Given the description of an element on the screen output the (x, y) to click on. 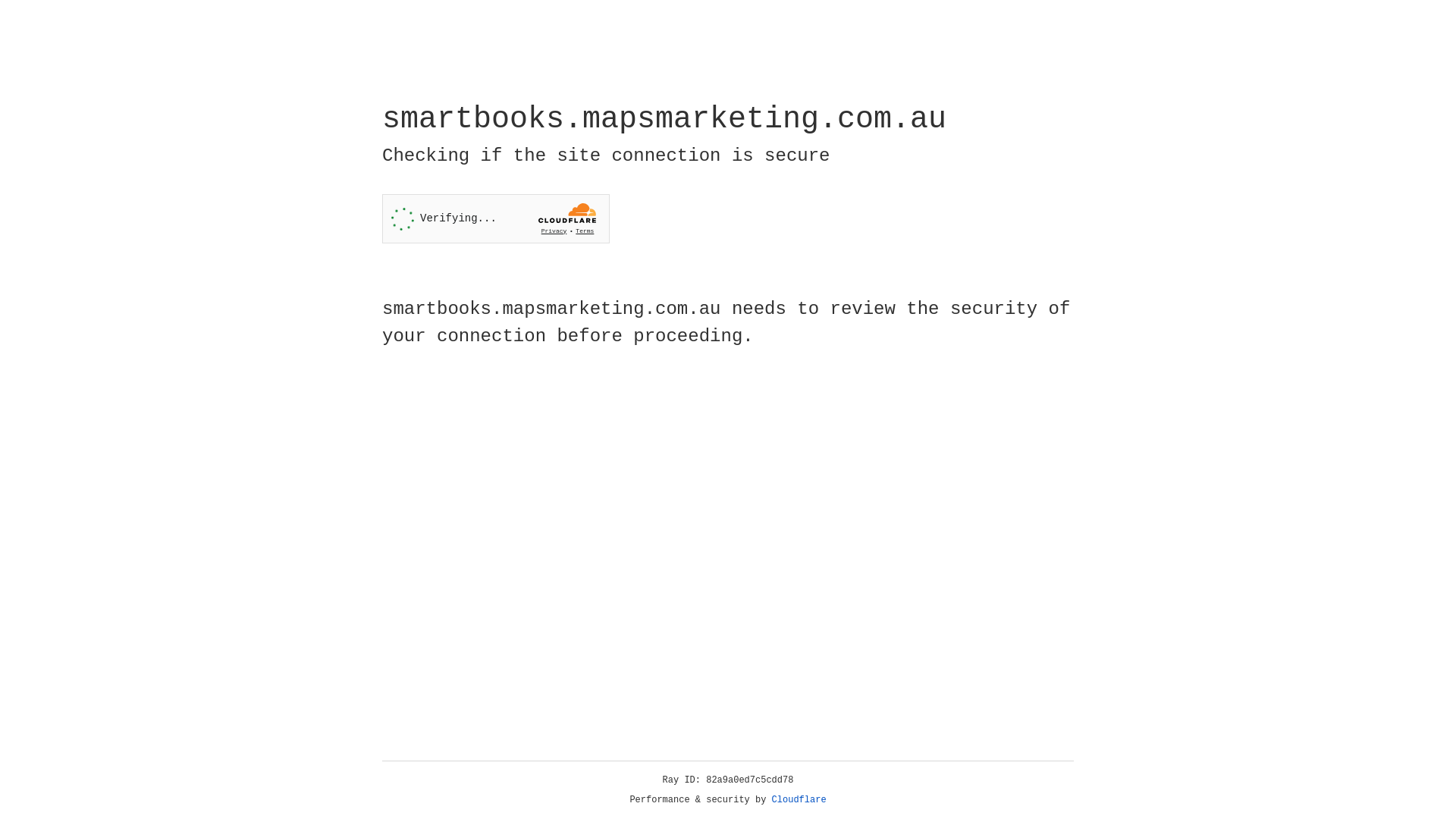
Cloudflare Element type: text (798, 799)
Widget containing a Cloudflare security challenge Element type: hover (495, 218)
